Given the description of an element on the screen output the (x, y) to click on. 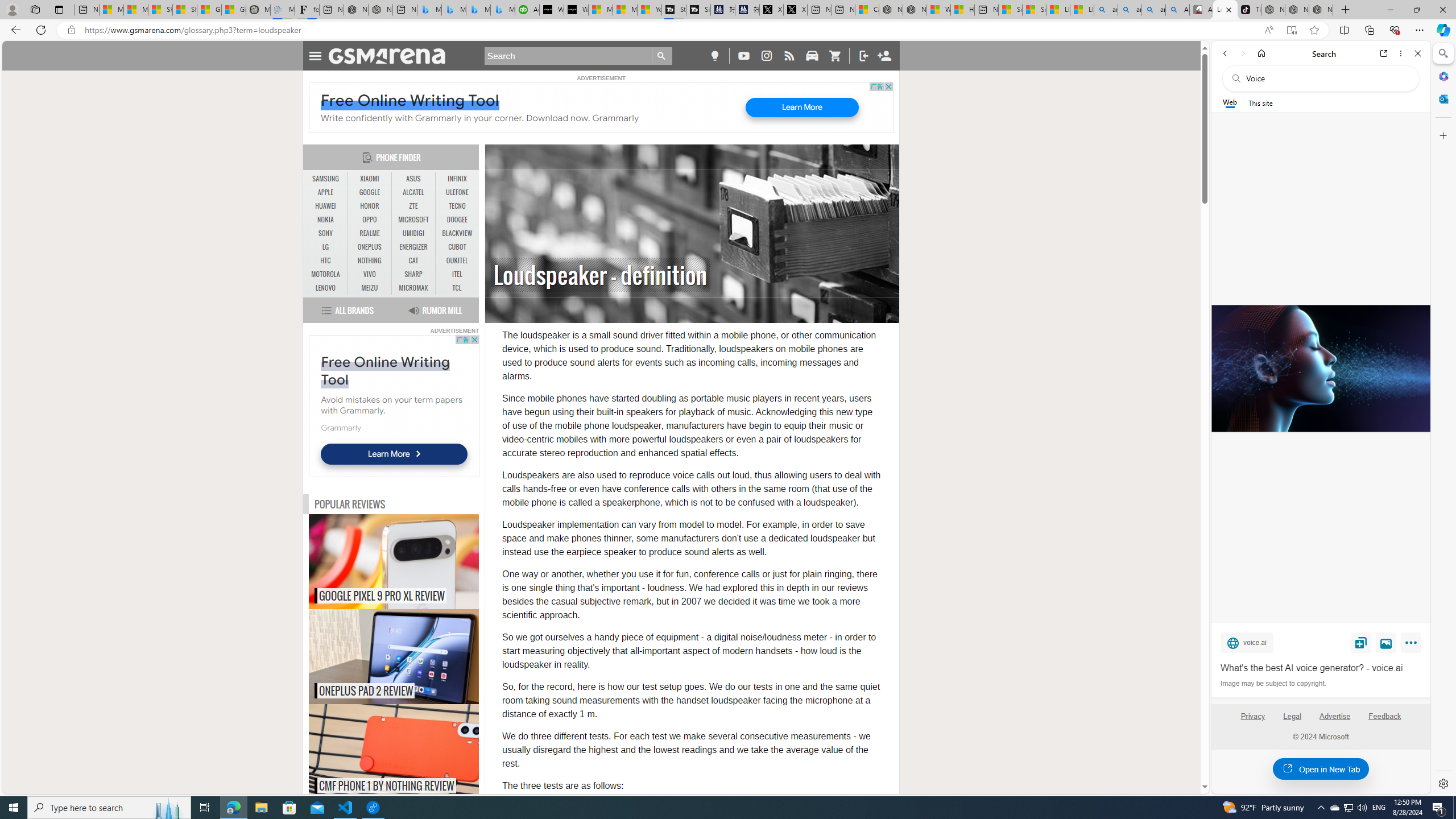
REALME (369, 233)
SHARP (413, 273)
TECNO (457, 206)
MICROSOFT (413, 219)
Microsoft Bing Travel - Stays in Bangkok, Bangkok, Thailand (453, 9)
LG (325, 246)
VIVO (369, 273)
Avoid mistakes on your term papers with Grammarly. (391, 404)
CMF Phone 1 by Nothing review CMF PHONE 1 BY NOTHING REVIEW (393, 751)
ASUS (413, 178)
INFINIX (457, 178)
